Given the description of an element on the screen output the (x, y) to click on. 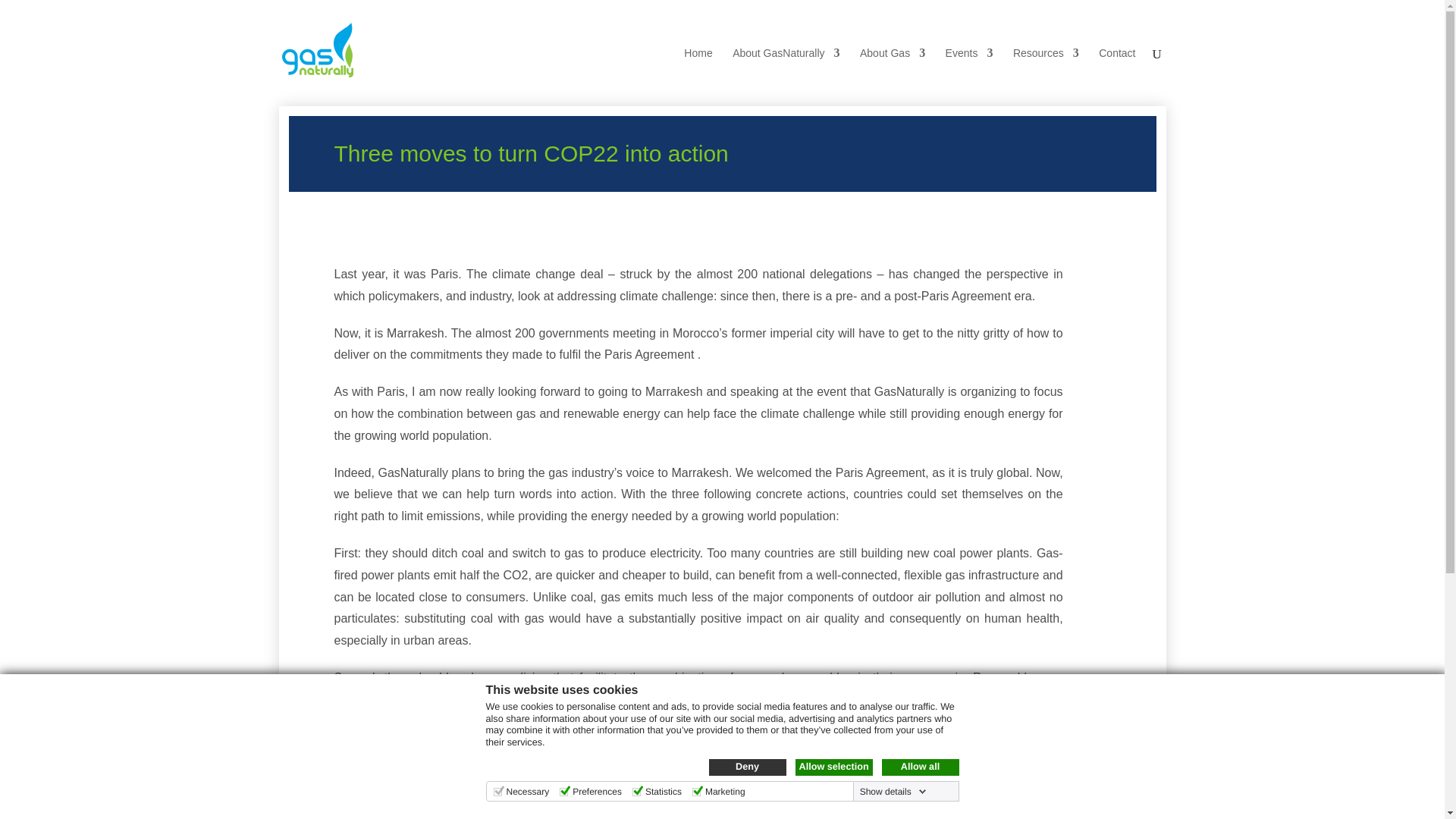
Allow selection (833, 767)
Show details (893, 791)
Deny (746, 767)
Allow all (919, 767)
About Gas (892, 65)
About GasNaturally (786, 65)
